Given the description of an element on the screen output the (x, y) to click on. 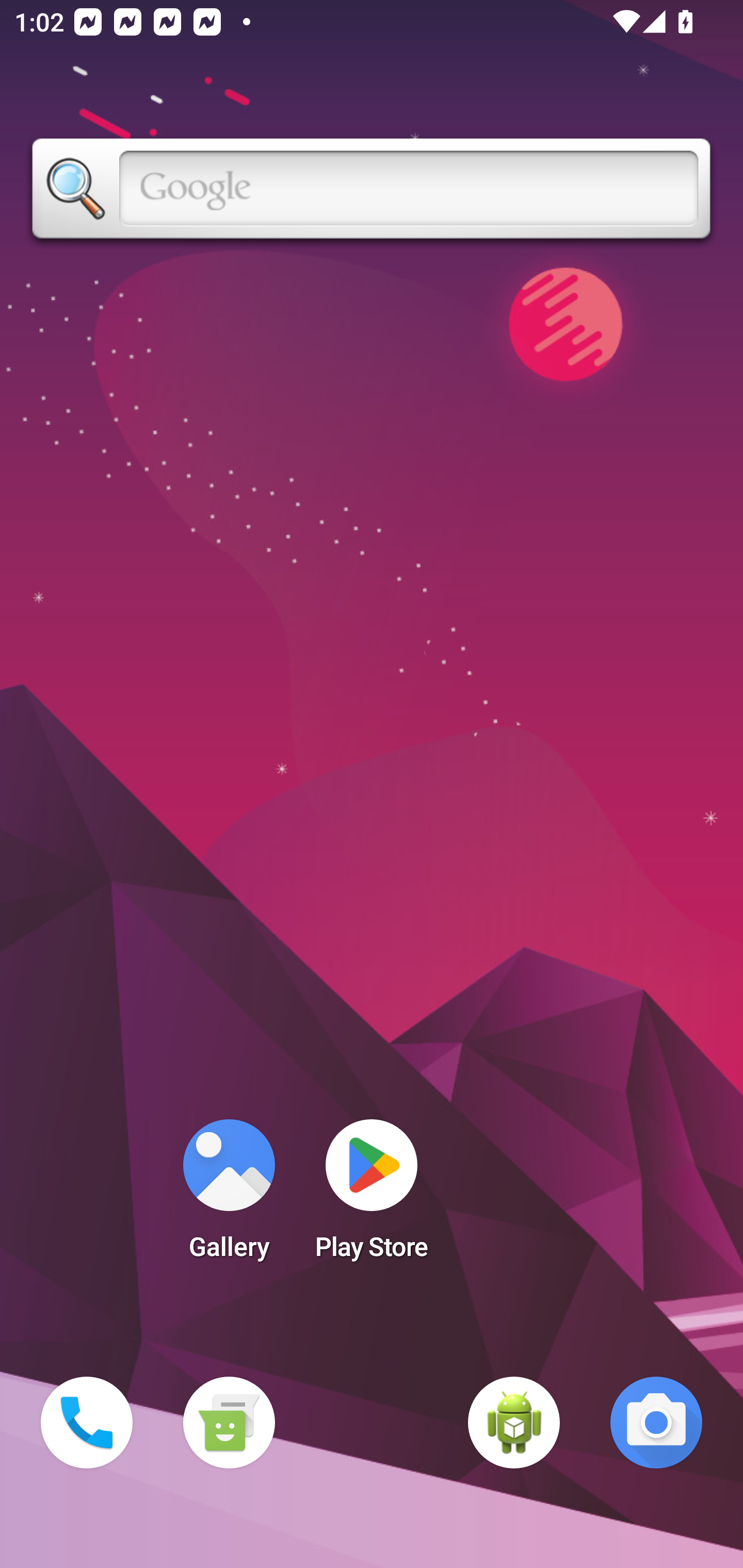
Gallery (228, 1195)
Play Store (371, 1195)
Phone (86, 1422)
Messaging (228, 1422)
WebView Browser Tester (513, 1422)
Camera (656, 1422)
